Given the description of an element on the screen output the (x, y) to click on. 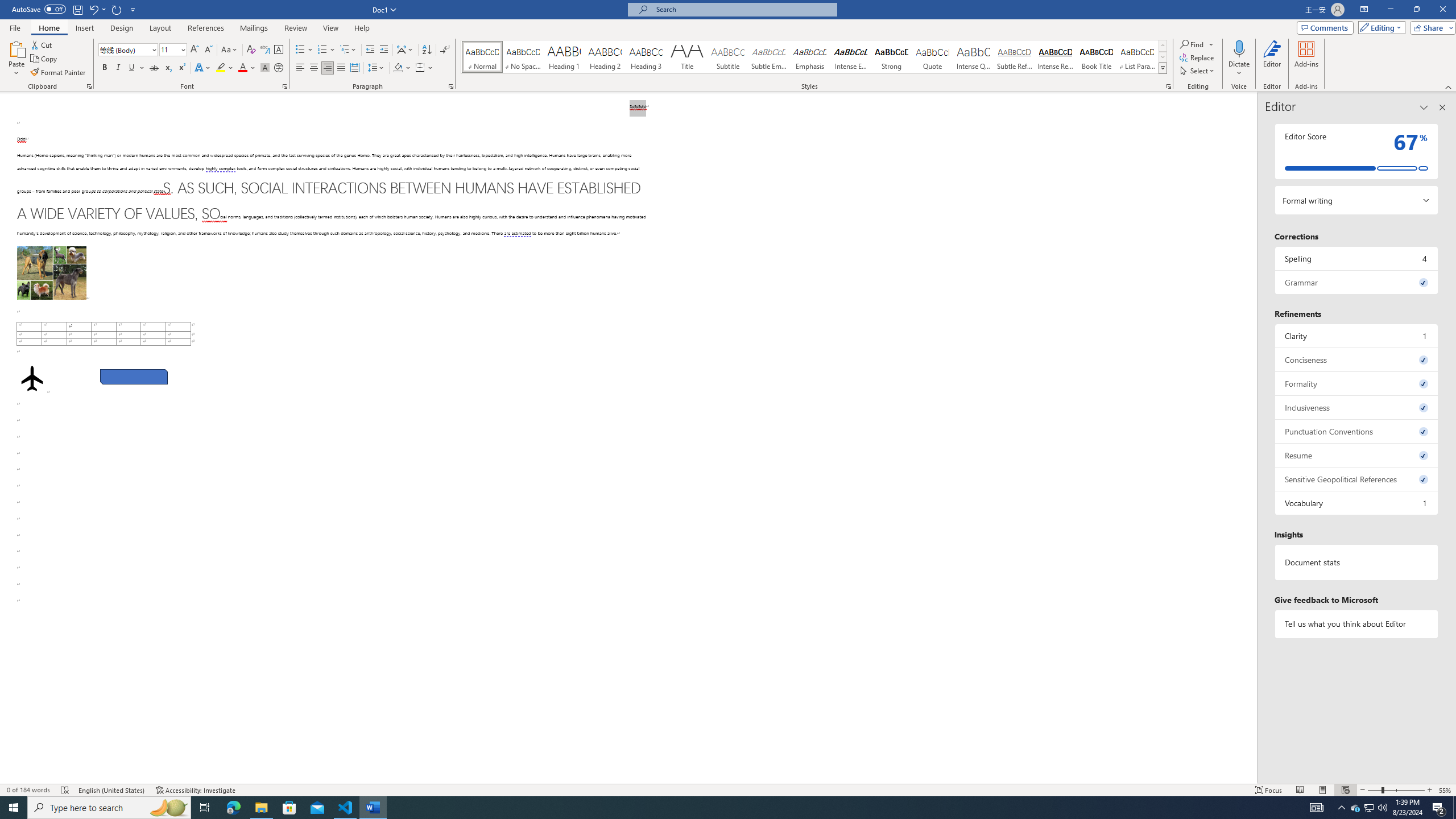
Heading 2 (605, 56)
Intense Reference (1055, 56)
Vocabulary, 1 issue. Press space or enter to review items. (1356, 502)
Spelling, 4 issues. Press space or enter to review items. (1356, 258)
Text Highlight Color Yellow (220, 67)
Editing (1379, 27)
Heading 1 (564, 56)
Font Color (246, 67)
Shading RGB(0, 0, 0) (397, 67)
